Given the description of an element on the screen output the (x, y) to click on. 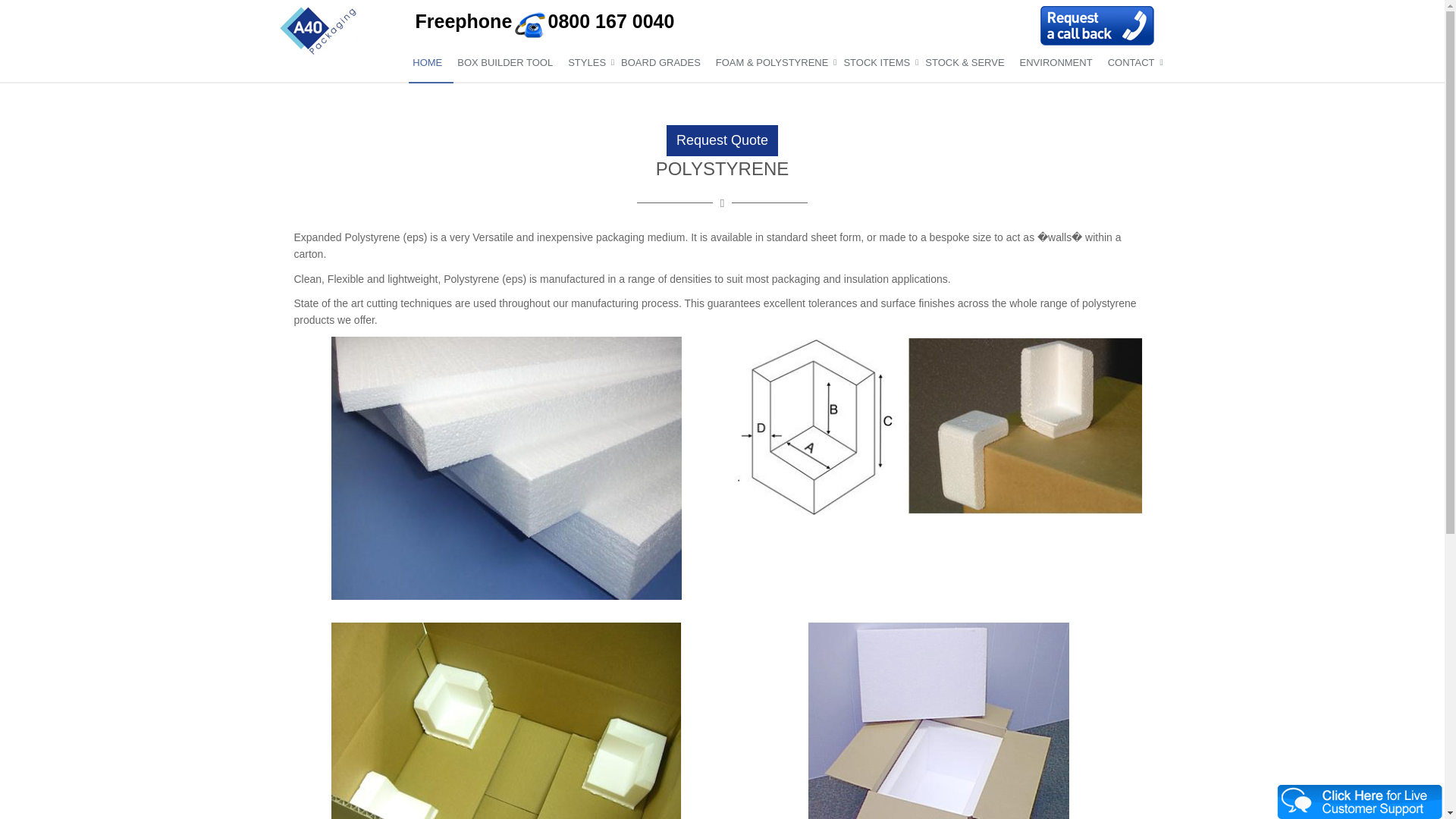
STOCK ITEMS (880, 63)
HOME (430, 63)
ENVIRONMENT (1059, 63)
BOX BUILDER TOOL (508, 63)
BOARD GRADES (664, 63)
Request Quote (721, 140)
STYLES (590, 63)
CONTACT (1134, 63)
